Given the description of an element on the screen output the (x, y) to click on. 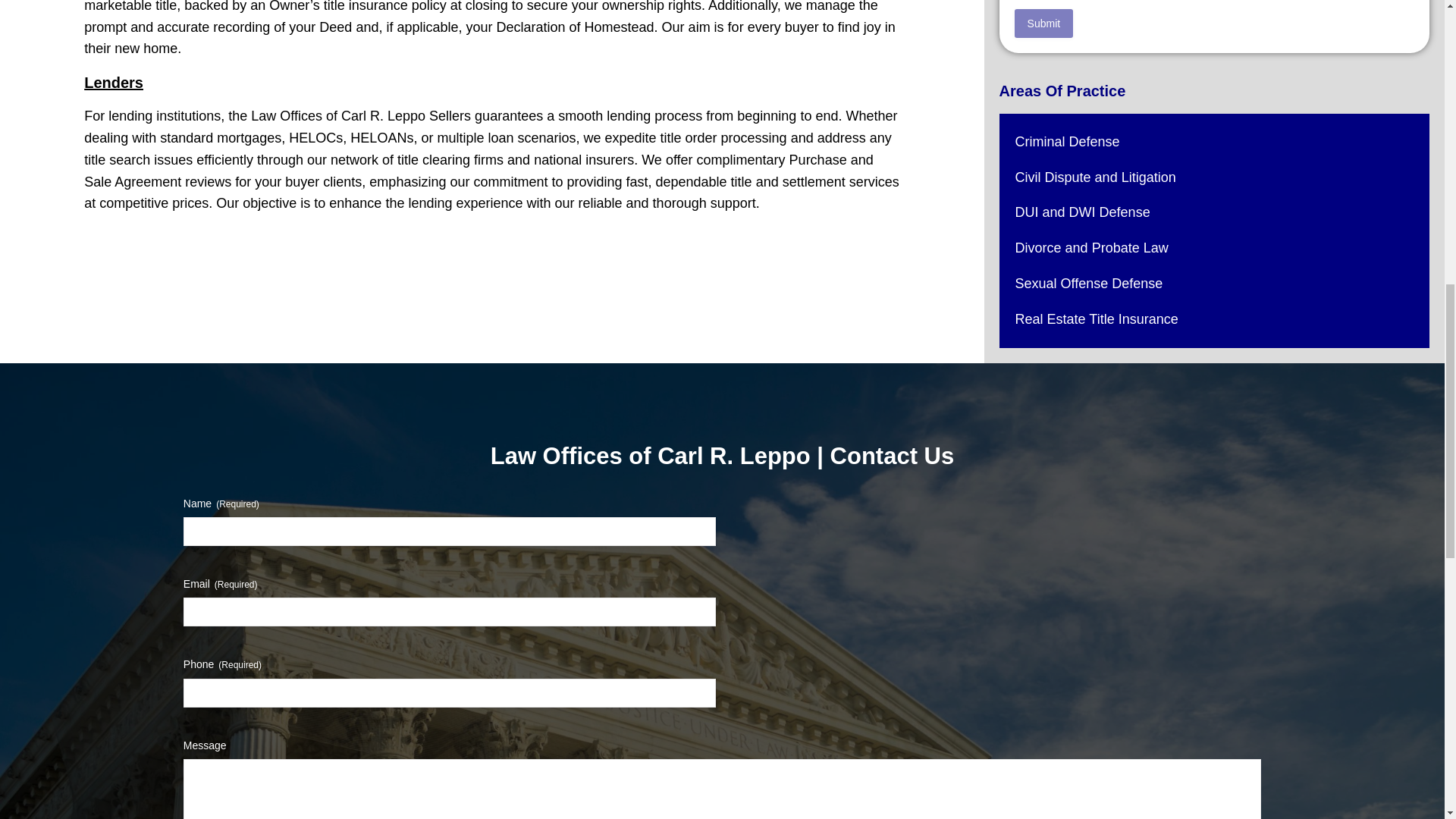
Divorce and Probate Law (1091, 247)
DUI and DWI Defense (1082, 212)
Submit (1044, 23)
Civil Dispute and Litigation (1095, 177)
Real Estate Title Insurance (1095, 319)
Criminal Defense (1066, 141)
Sexual Offense Defense (1088, 283)
Submit (1044, 23)
